Given the description of an element on the screen output the (x, y) to click on. 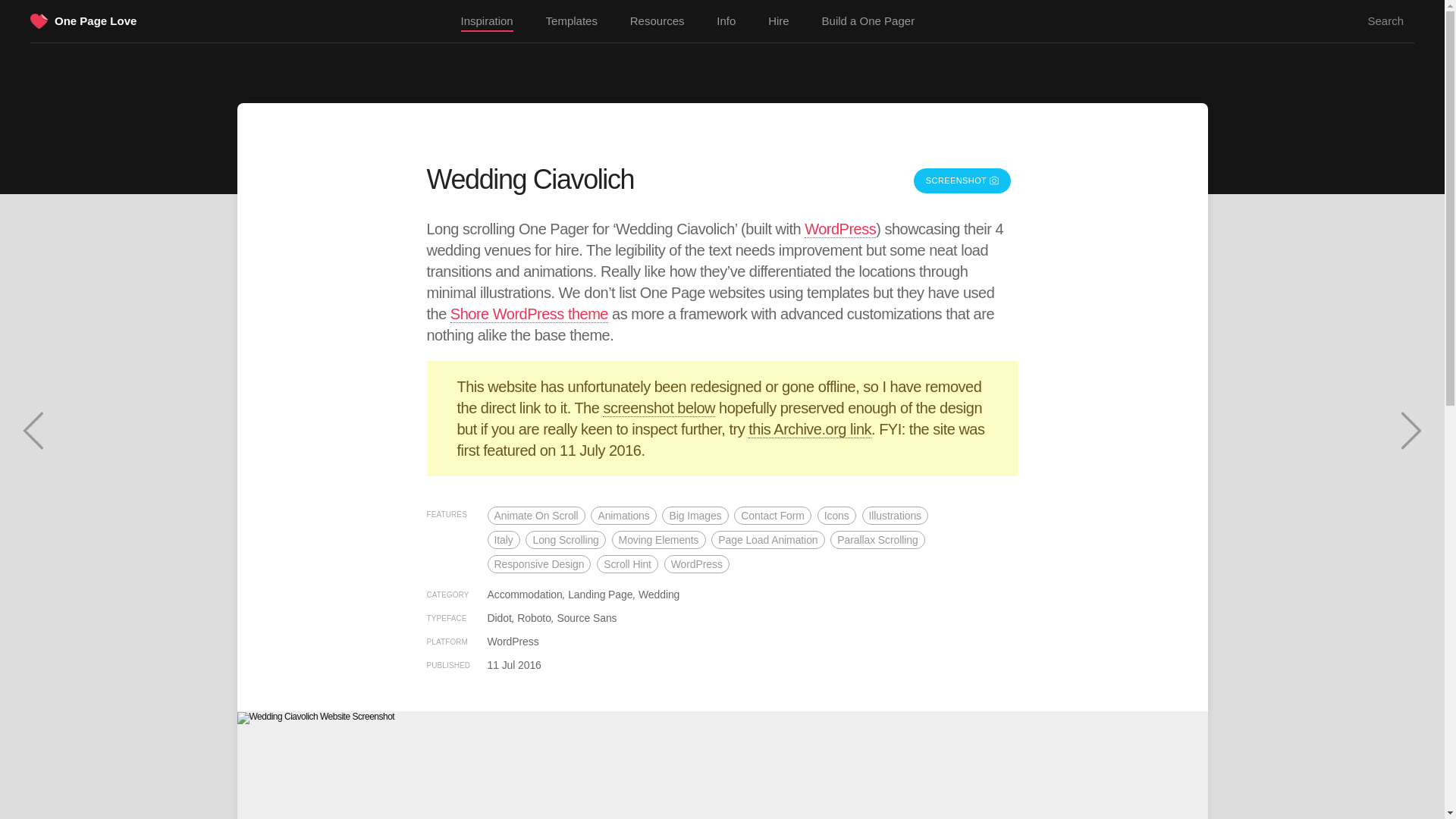
One Page Love (95, 20)
Find One Page website templates (571, 21)
Go to the One Page Love home page (39, 22)
Inspiration (486, 22)
One Page website inspiration gallery (486, 22)
Go to the One Page Love home page (95, 20)
